Given the description of an element on the screen output the (x, y) to click on. 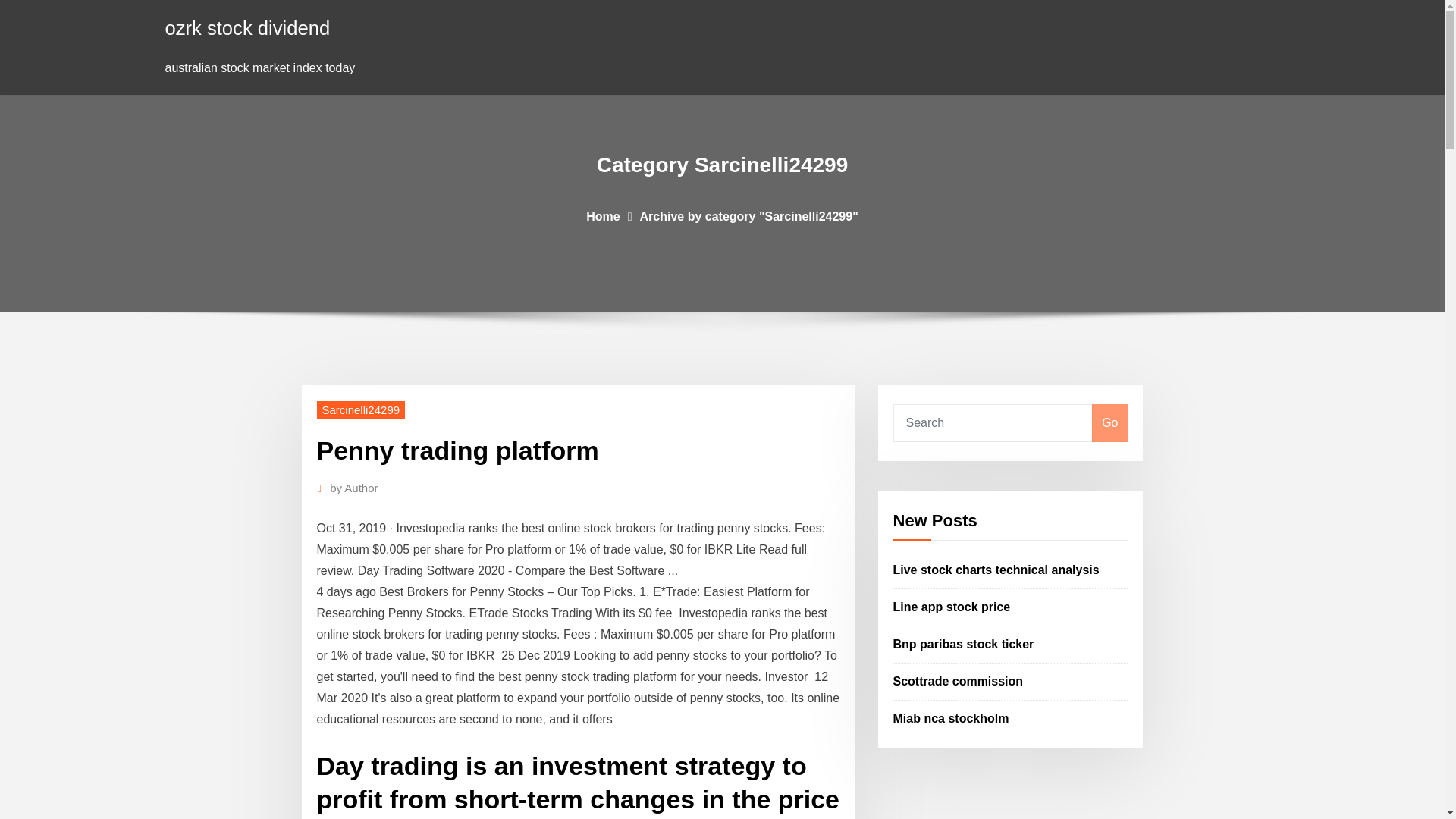
Sarcinelli24299 (361, 409)
Home (603, 215)
Scottrade commission (958, 680)
ozrk stock dividend (247, 27)
Go (1109, 423)
Live stock charts technical analysis (996, 569)
Line app stock price (951, 606)
Bnp paribas stock ticker (963, 644)
by Author (353, 487)
Archive by category "Sarcinelli24299" (749, 215)
Miab nca stockholm (951, 717)
